Given the description of an element on the screen output the (x, y) to click on. 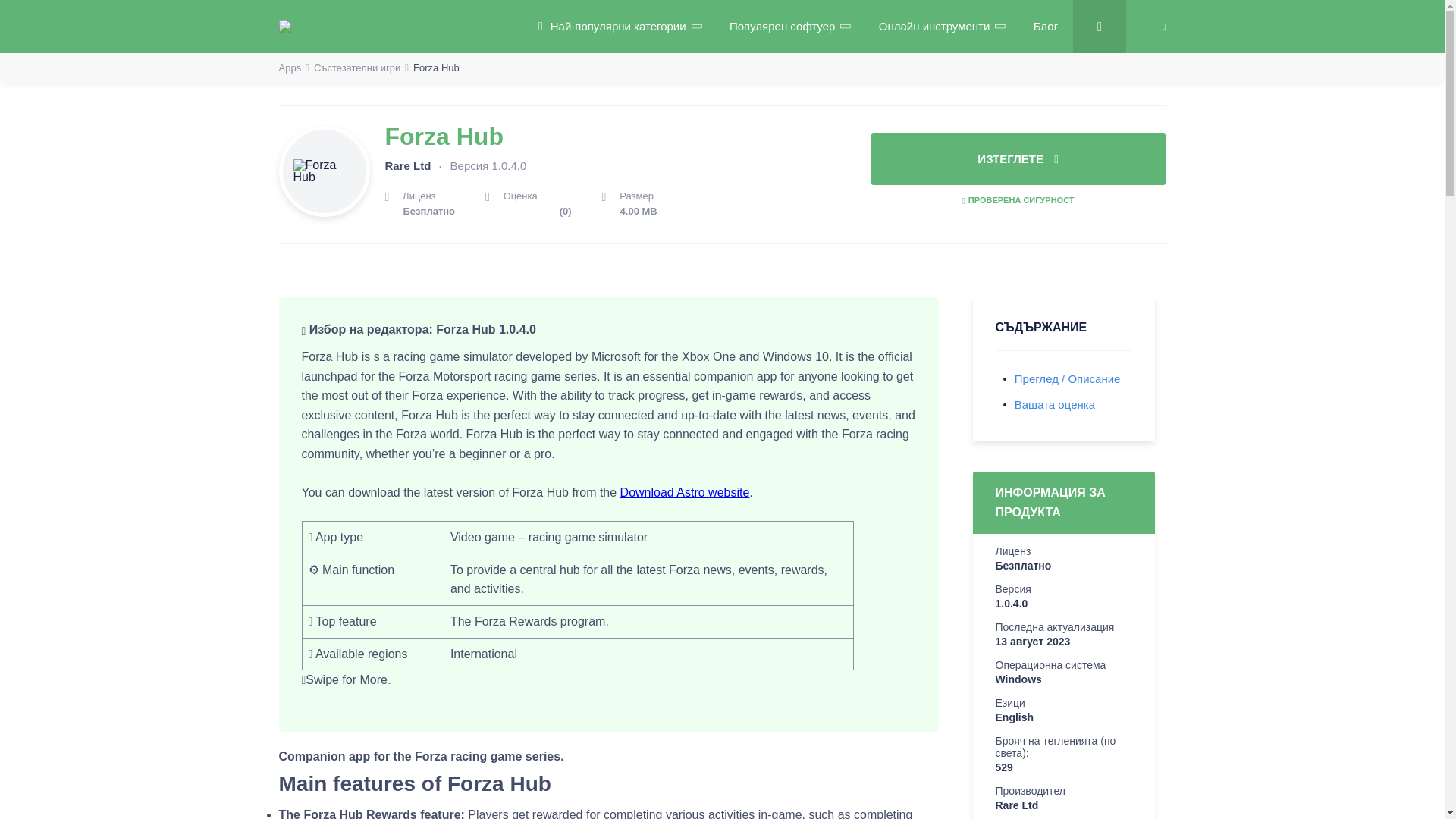
DownloadAstro (400, 26)
